Given the description of an element on the screen output the (x, y) to click on. 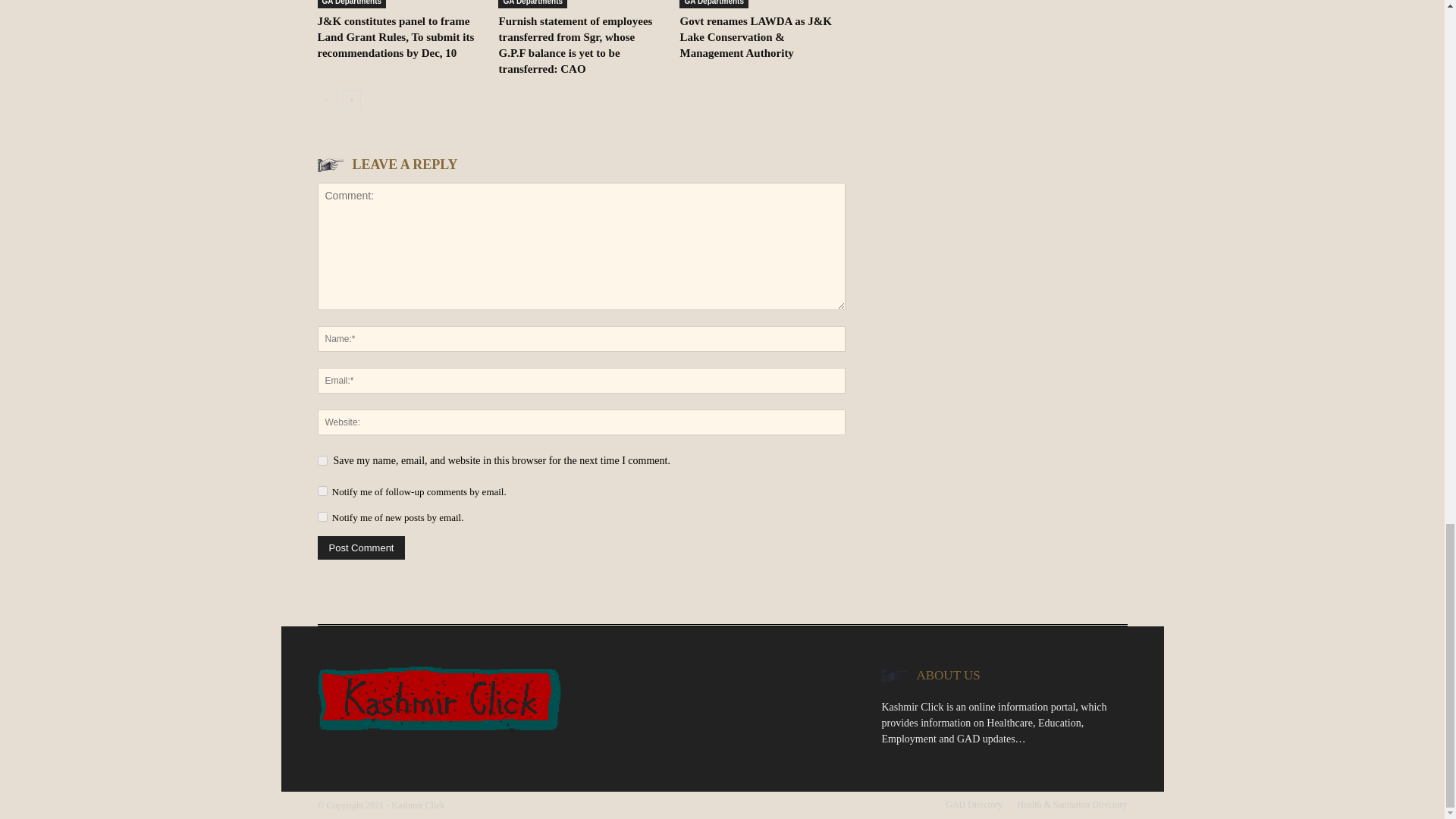
subscribe (321, 516)
Post Comment (360, 547)
subscribe (321, 491)
yes (321, 460)
